Given the description of an element on the screen output the (x, y) to click on. 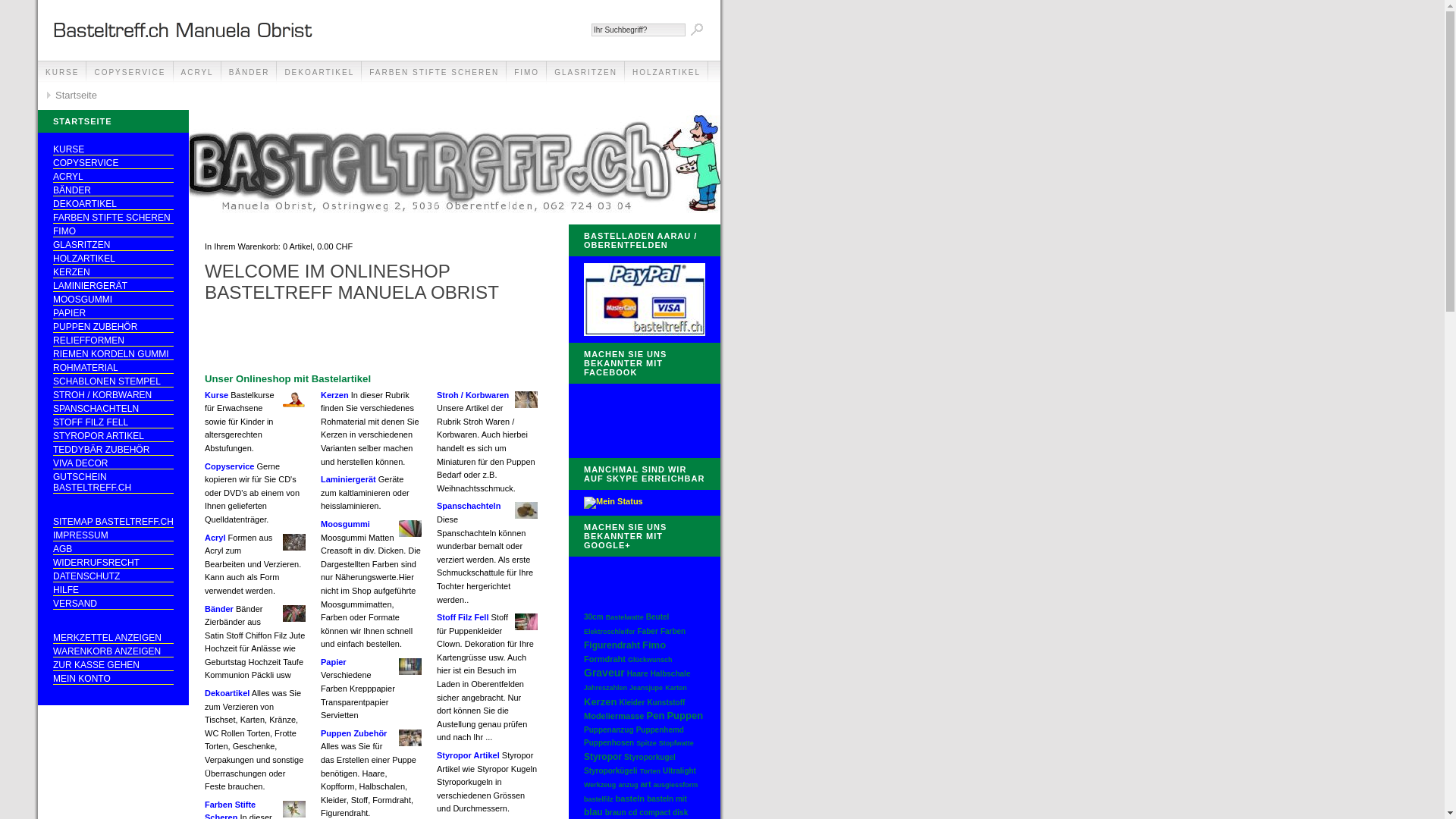
RIEMEN KORDELN GUMMI Element type: text (113, 354)
Moosgummi Element type: text (345, 523)
art Element type: text (645, 783)
ACRYL Element type: text (113, 176)
GLASRITZEN Element type: text (113, 245)
MOOSGUMMI Element type: text (113, 299)
Startseite Element type: text (70, 95)
Kleider Element type: text (631, 702)
Beutel Element type: text (657, 616)
DEKOARTIKEL Element type: text (318, 72)
VIVA DECOR Element type: text (113, 463)
KURSE Element type: text (113, 149)
braun Element type: text (615, 812)
STROH / KORBWAREN Element type: text (113, 395)
Jeansjupe Element type: text (645, 687)
Styropor Artikel Element type: text (467, 754)
anzug Element type: text (627, 784)
Figurendraht Element type: text (611, 645)
Spitze Element type: text (646, 742)
MEIN KONTO Element type: text (113, 678)
Dekoartikel Element type: text (226, 692)
WIDERRUFSRECHT Element type: text (113, 562)
Stoff Filz Fell Element type: text (462, 616)
blau Element type: text (592, 811)
PAPIER Element type: text (113, 313)
DATENSCHUTZ Element type: text (113, 576)
Stopfwatte Element type: text (675, 742)
Puppenhosen Element type: text (608, 742)
Styropor Element type: text (602, 756)
SITEMAP BASTELTREFF.CH Element type: text (113, 521)
Karten Element type: text (676, 687)
Modeliermasse Element type: text (613, 715)
Kerzen Element type: text (599, 701)
GLASRITZEN Element type: text (585, 72)
Kerzen Element type: text (334, 394)
MERKZETTEL ANZEIGEN Element type: text (113, 637)
Graveur Element type: text (603, 672)
Kunststoff Element type: text (665, 702)
HOLZARTIKEL Element type: text (666, 72)
Farben Element type: text (672, 631)
Ultralight Element type: text (679, 770)
Faber Element type: text (647, 631)
Papier Element type: text (333, 661)
STYROPOR ARTIKEL Element type: text (113, 436)
Acryl Element type: text (214, 537)
FARBEN STIFTE SCHEREN Element type: text (433, 72)
compact disk Element type: text (663, 812)
cd Element type: text (632, 812)
Puppenanzug Element type: text (608, 729)
IMPRESSUM Element type: text (113, 535)
Formdraht Element type: text (604, 658)
ausgiessform Element type: text (675, 784)
Elektroschleifer Element type: text (609, 631)
RELIEFFORMEN Element type: text (113, 340)
GUTSCHEIN BASTELTREFF.CH Element type: text (113, 482)
HILFE Element type: text (113, 590)
Haare Element type: text (637, 673)
Halbschale Element type: text (670, 673)
ZUR KASSE GEHEN Element type: text (113, 665)
WARENKORB ANZEIGEN Element type: text (113, 651)
COPYSERVICE Element type: text (113, 163)
Styroporkugel Element type: text (649, 757)
FARBEN STIFTE SCHEREN Element type: text (113, 217)
FIMO Element type: text (113, 231)
AGB Element type: text (113, 549)
Bastelwatte Element type: text (624, 617)
Spanschachteln Element type: text (468, 505)
Copyservice Element type: text (229, 465)
Jahreszahlen Element type: text (605, 687)
Puppenhemd Element type: text (660, 729)
FIMO Element type: text (526, 72)
Torten Element type: text (650, 771)
KERZEN Element type: text (113, 272)
VERSAND Element type: text (113, 603)
basteln Element type: text (630, 798)
basteln mit Element type: text (666, 798)
HOLZARTIKEL Element type: text (113, 258)
KURSE Element type: text (61, 72)
ROHMATERIAL Element type: text (113, 367)
30cm Element type: text (593, 616)
Kurse Element type: text (216, 394)
SCHABLONEN STEMPEL Element type: text (113, 381)
bastelfilz Element type: text (598, 799)
STOFF FILZ FELL Element type: text (113, 422)
COPYSERVICE Element type: text (129, 72)
Fimo Element type: text (653, 644)
ACRYL Element type: text (197, 72)
Werkzeug Element type: text (599, 784)
Stroh / Korbwaren Element type: text (472, 394)
Puppen Element type: text (684, 715)
SPANSCHACHTELN Element type: text (113, 408)
DEKOARTIKEL Element type: text (113, 204)
Pen Element type: text (655, 715)
